Given the description of an element on the screen output the (x, y) to click on. 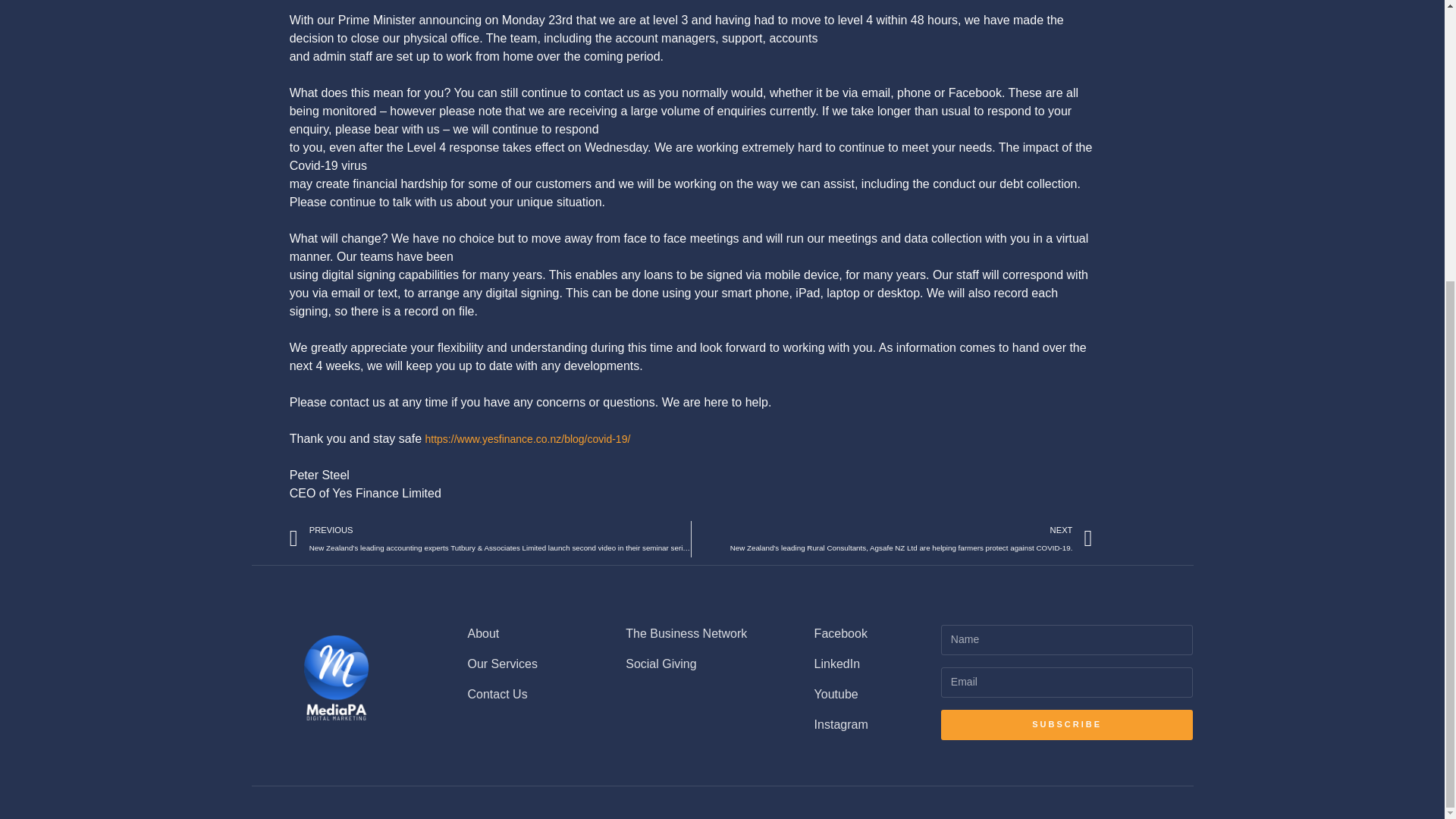
Our Services (523, 663)
LinkedIn (854, 663)
Youtube (854, 693)
Instagram (854, 723)
The Business Network (697, 633)
Facebook (854, 633)
Social Giving (697, 663)
About (523, 633)
SUBSCRIBE (1066, 724)
Contact Us (523, 693)
